Given the description of an element on the screen output the (x, y) to click on. 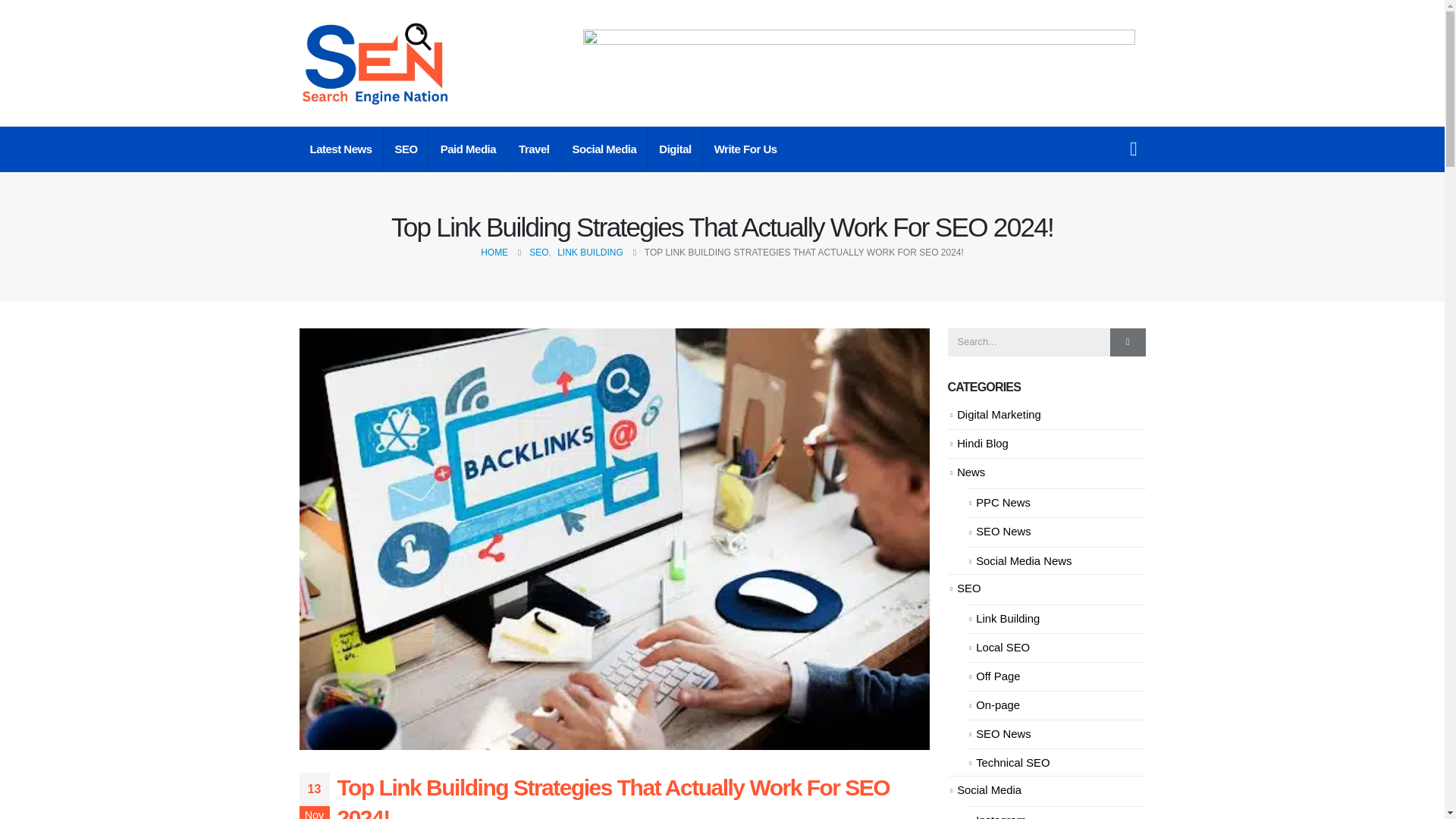
SEO (406, 148)
Latest News (340, 148)
Go to Home Page (494, 252)
